Given the description of an element on the screen output the (x, y) to click on. 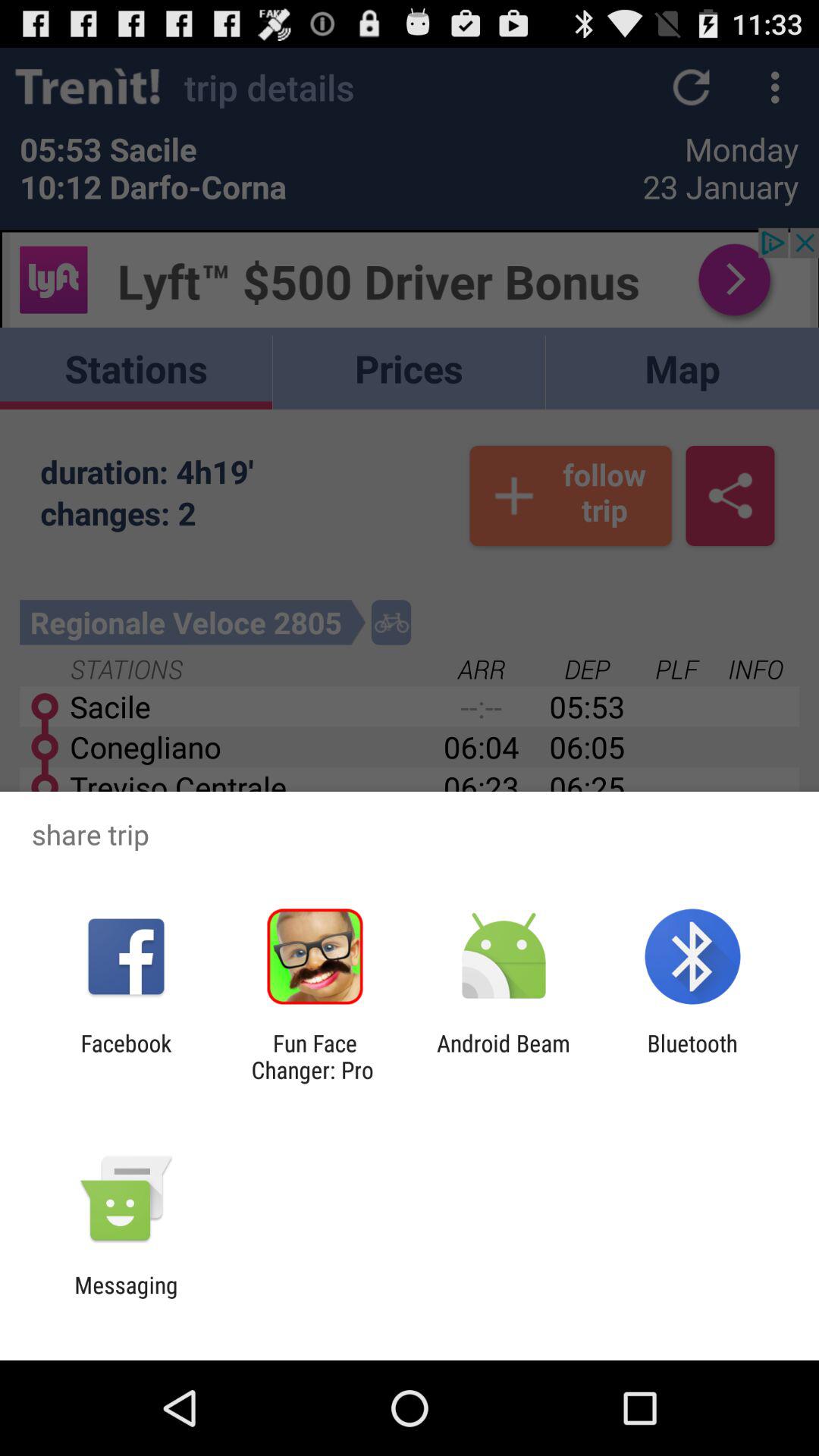
click icon to the right of the android beam app (692, 1056)
